Given the description of an element on the screen output the (x, y) to click on. 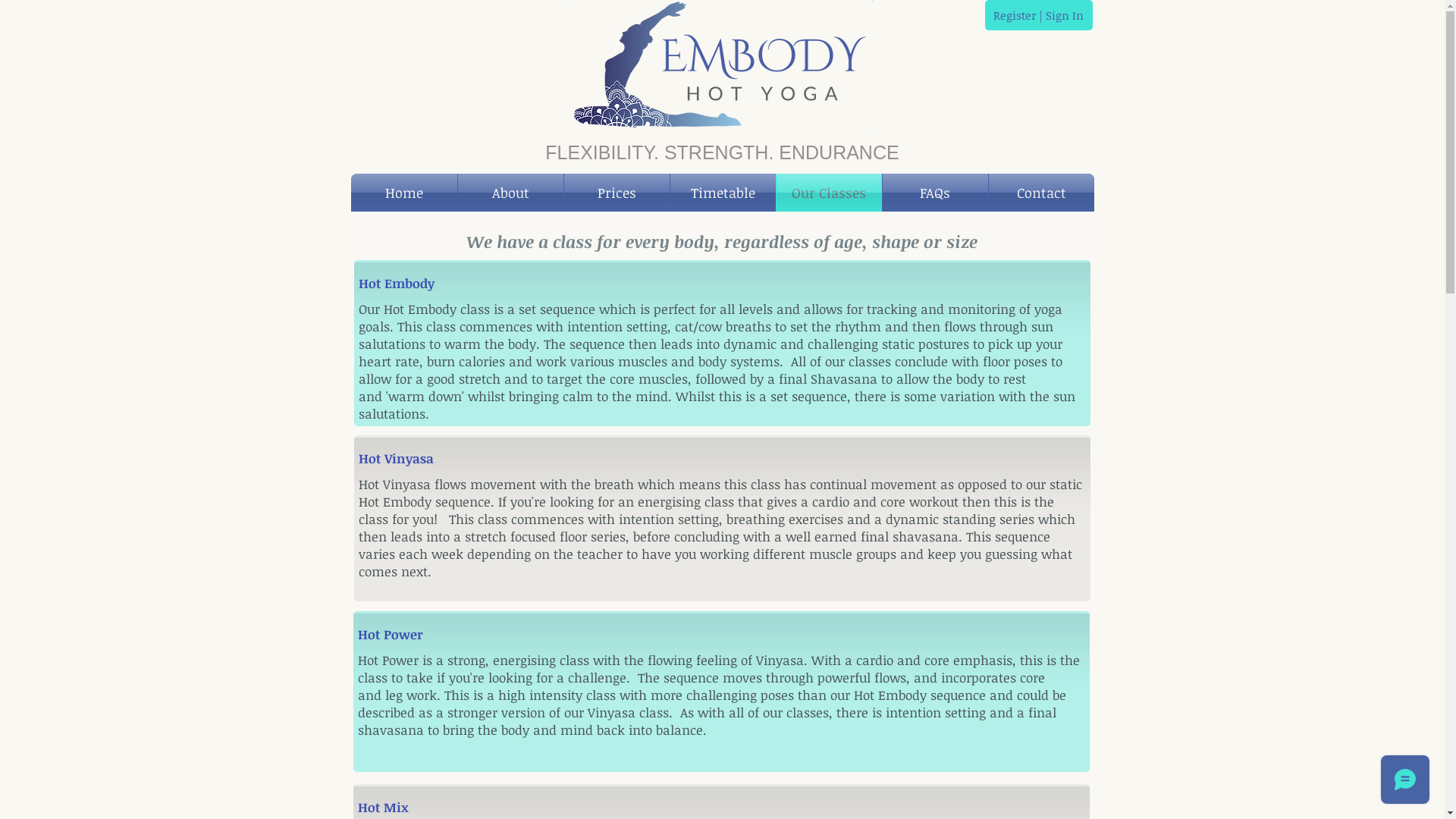
Contact Element type: text (1041, 192)
Our Classes Element type: text (828, 192)
About Element type: text (510, 192)
FAQs Element type: text (935, 192)
Timetable Element type: text (722, 192)
Prices Element type: text (616, 192)
Home Element type: text (403, 192)
Register | Sign In Element type: text (1038, 15)
